Given the description of an element on the screen output the (x, y) to click on. 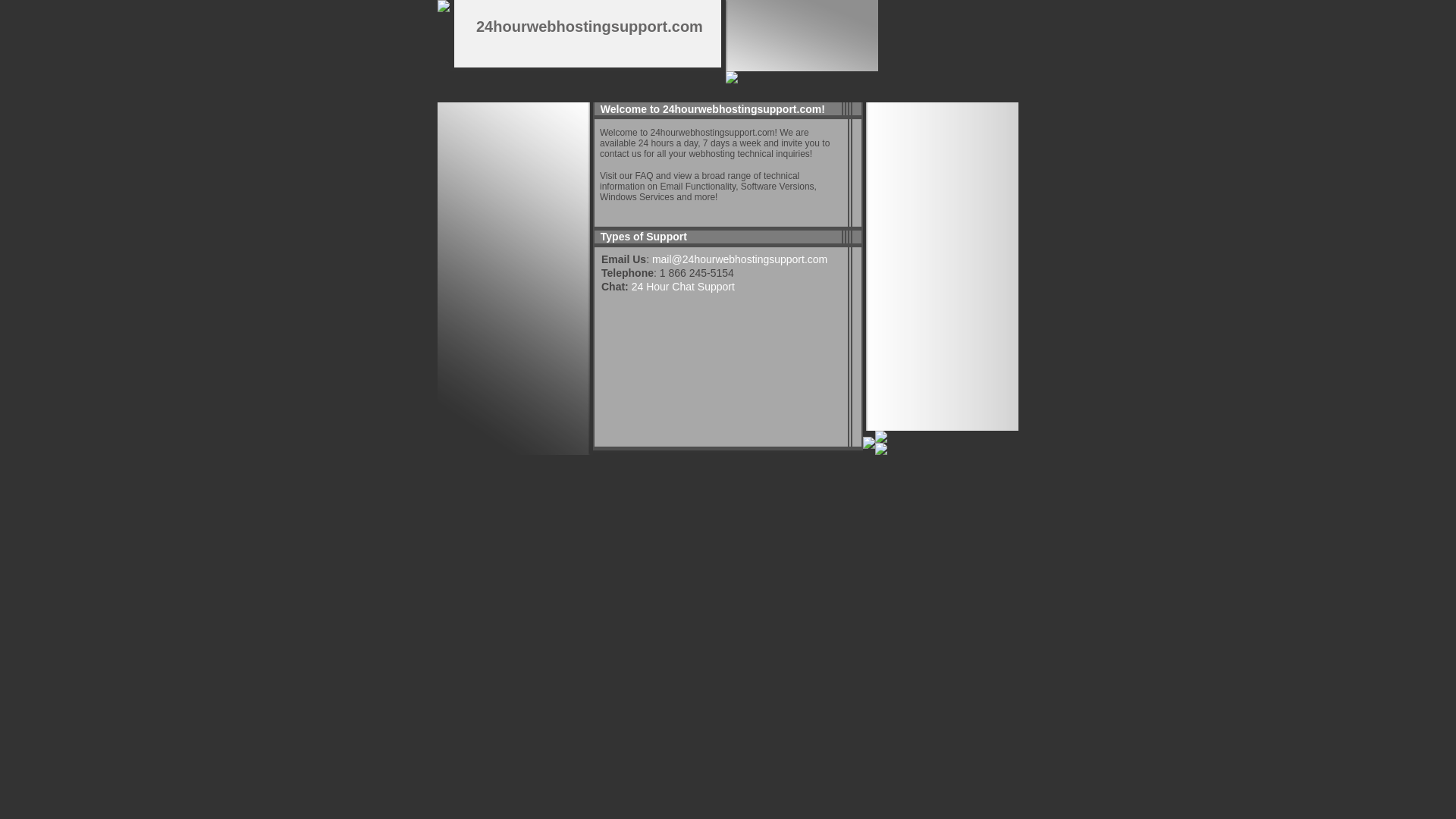
24 Hour Chat Support Element type: text (682, 286)
mail@24hourwebhostingsupport.com Element type: text (739, 259)
